Given the description of an element on the screen output the (x, y) to click on. 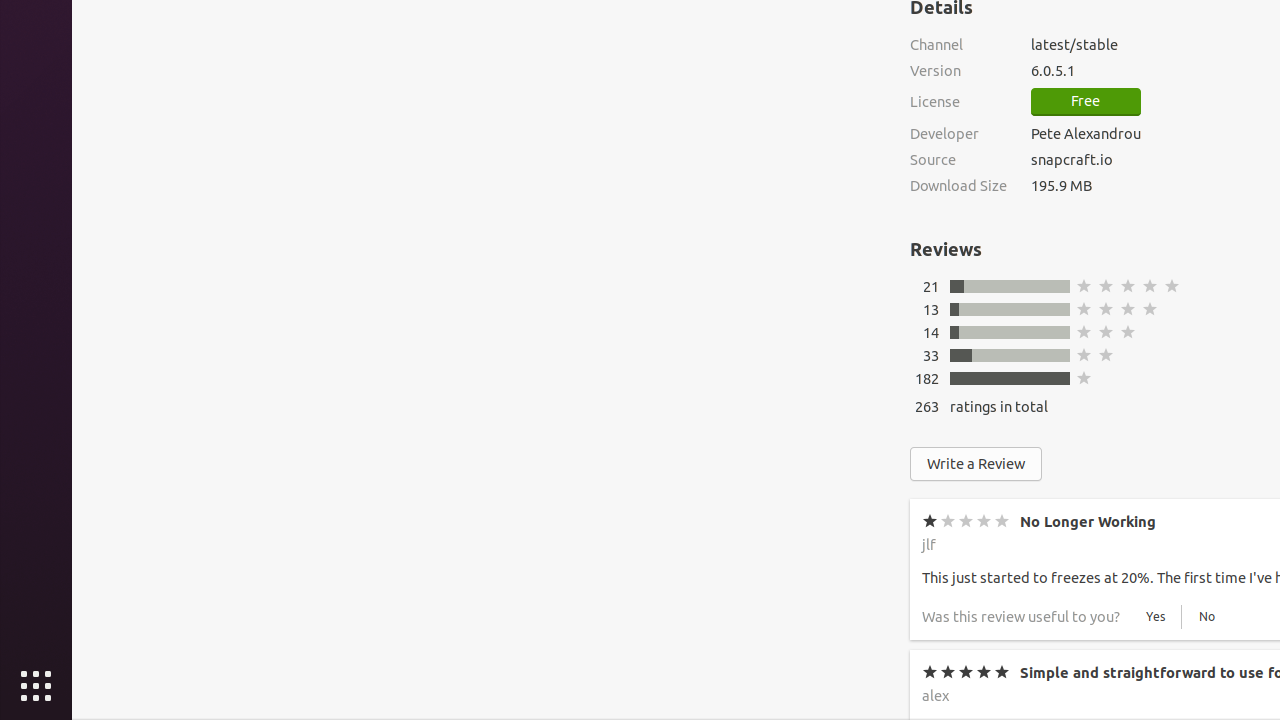
alex Element type: label (935, 695)
Was this review useful to you? Element type: label (1021, 617)
Free Element type: push-button (1086, 102)
13 Element type: label (931, 309)
Developer Element type: label (958, 133)
